Given the description of an element on the screen output the (x, y) to click on. 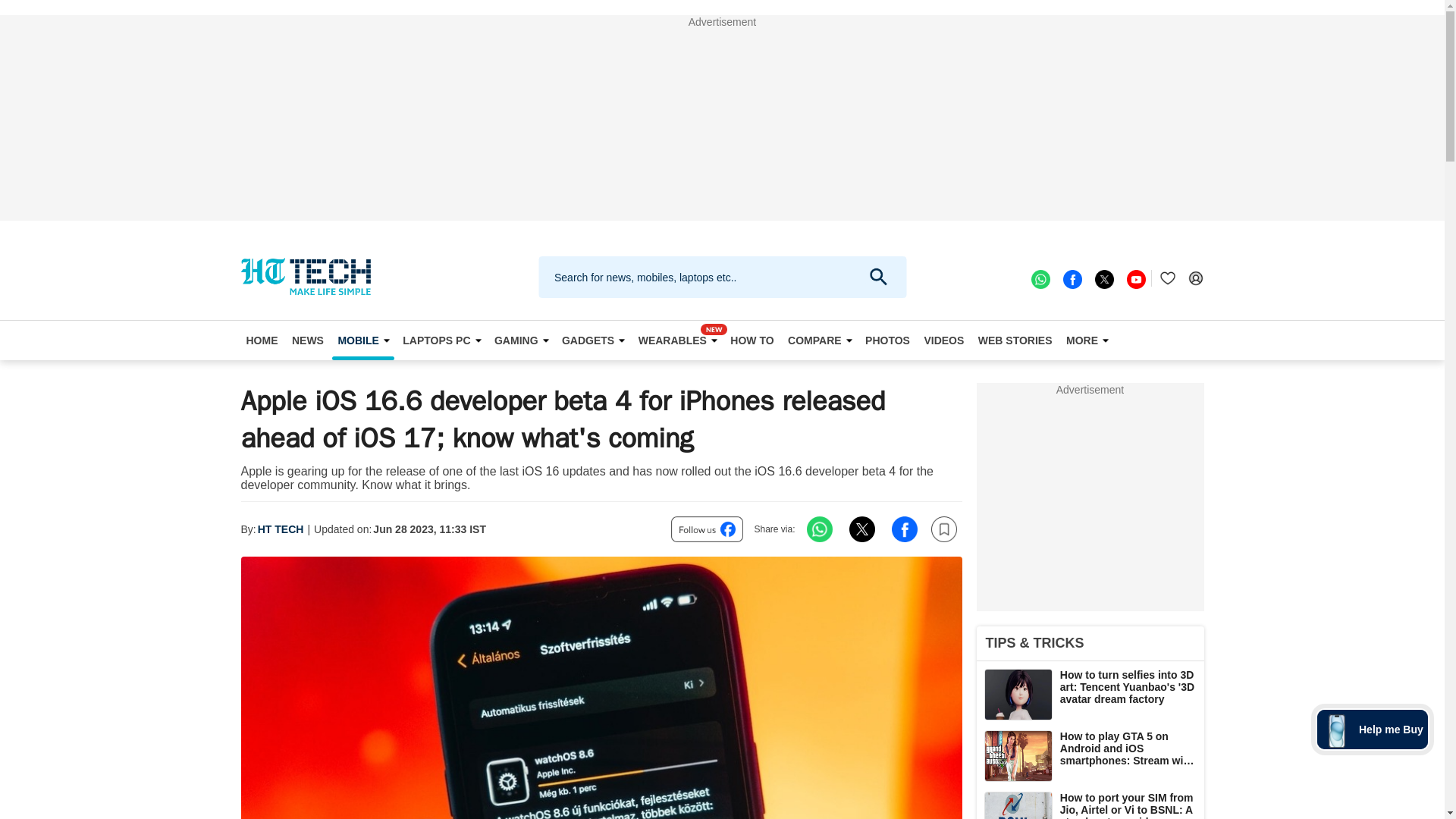
WhatsApp channel (1039, 278)
COMPARE (820, 340)
Get to know more about News from India and around the world. (307, 340)
youtube (1134, 278)
MOBILE (362, 340)
WEARABLES (677, 340)
LAPTOPS PC (440, 340)
Login (1196, 278)
facebook (1071, 278)
GAMING (521, 340)
